Given the description of an element on the screen output the (x, y) to click on. 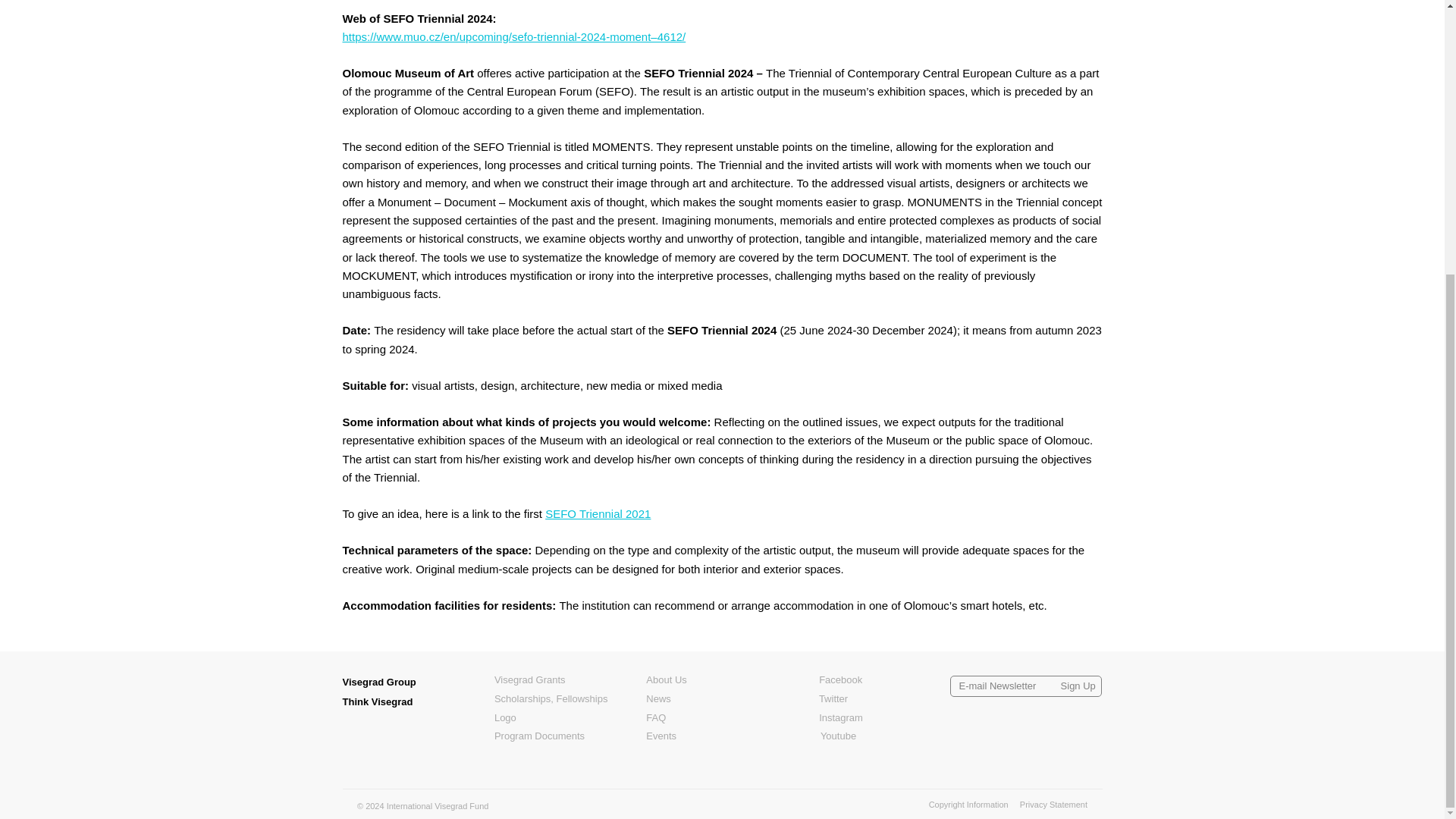
Sign Up (1078, 686)
